Given the description of an element on the screen output the (x, y) to click on. 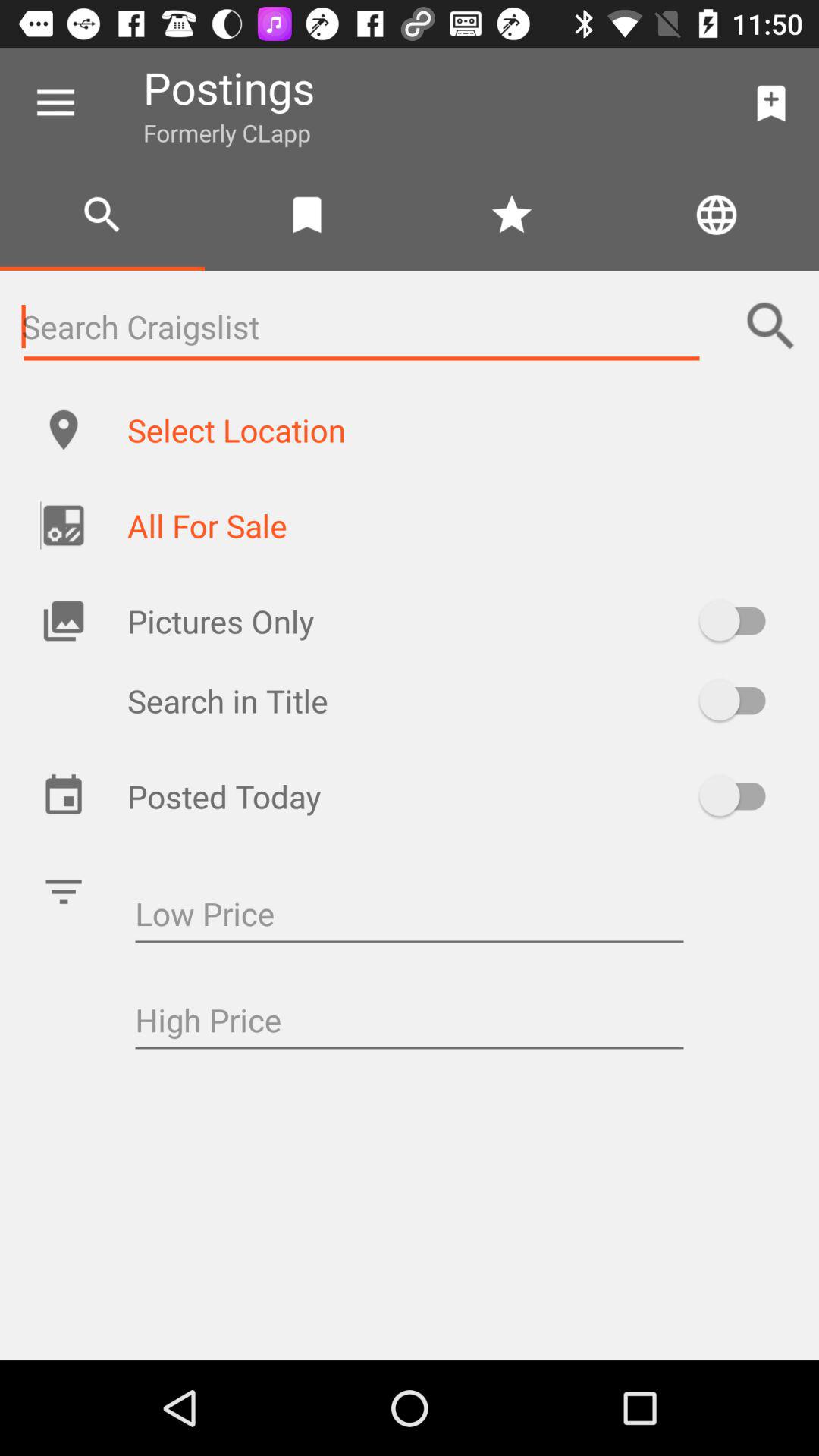
toggle search in title (739, 700)
